Given the description of an element on the screen output the (x, y) to click on. 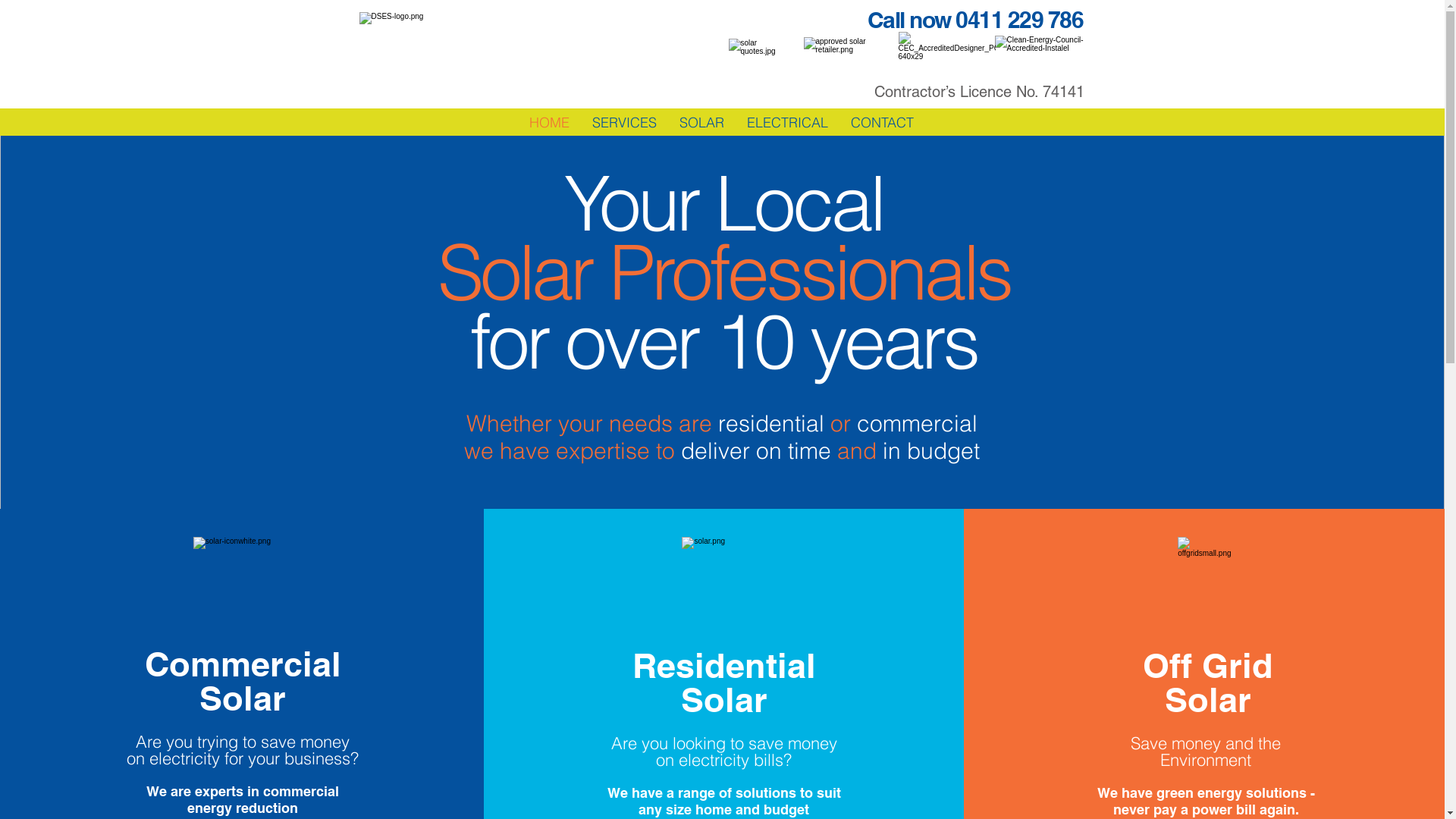
SOLAR Element type: text (701, 122)
SERVICES Element type: text (624, 122)
CONTACT Element type: text (882, 122)
ELECTRICAL Element type: text (787, 122)
Call now 0411 229 786 Element type: text (975, 22)
HOME Element type: text (548, 122)
